Given the description of an element on the screen output the (x, y) to click on. 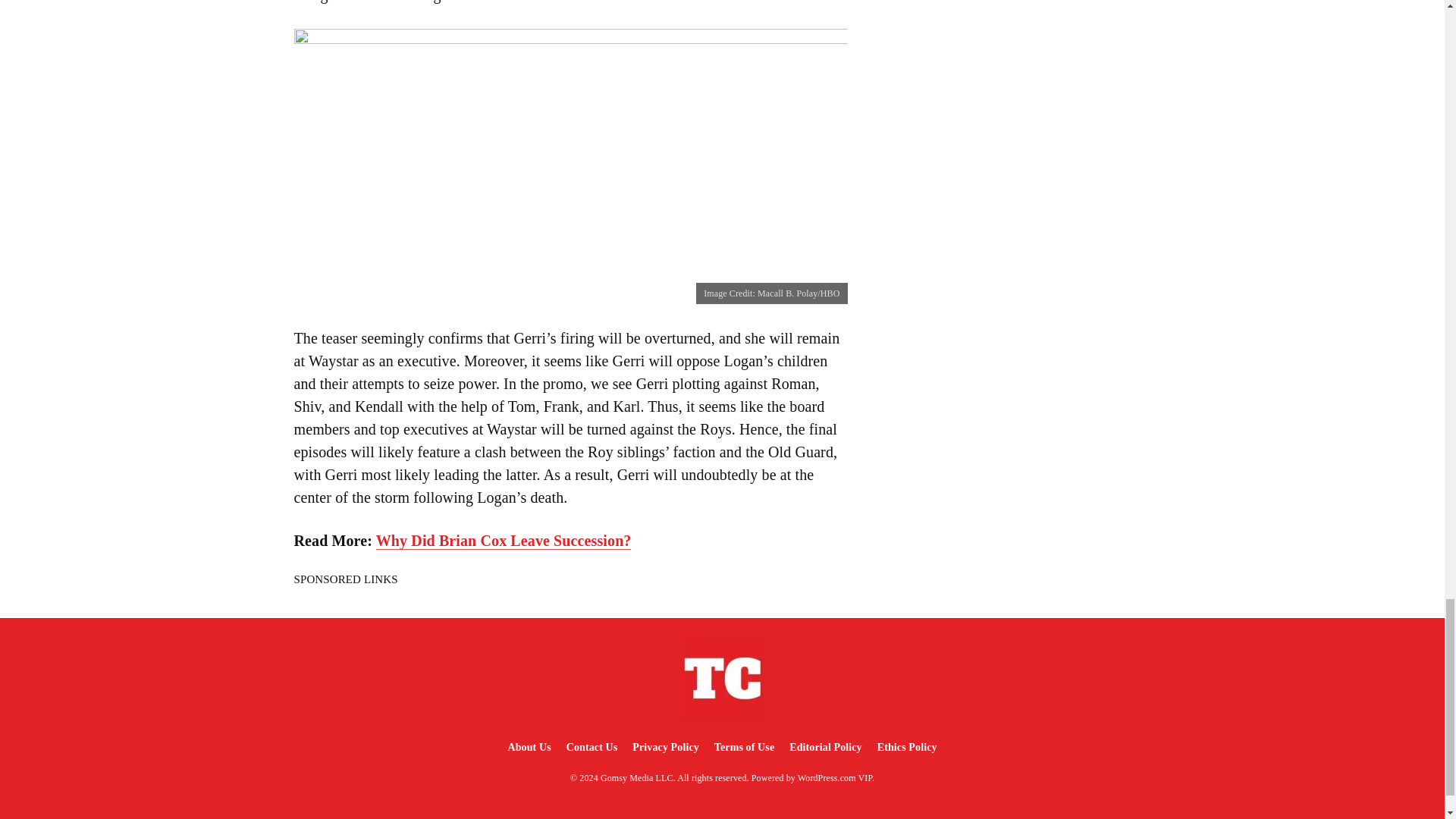
Terms of Use (743, 747)
Privacy Policy (665, 747)
Why Did Brian Cox Leave Succession? (503, 540)
About Us (528, 747)
WordPress.com VIP (834, 777)
Contact Us (592, 747)
Editorial Policy (825, 747)
Ethics Policy (906, 747)
